Given the description of an element on the screen output the (x, y) to click on. 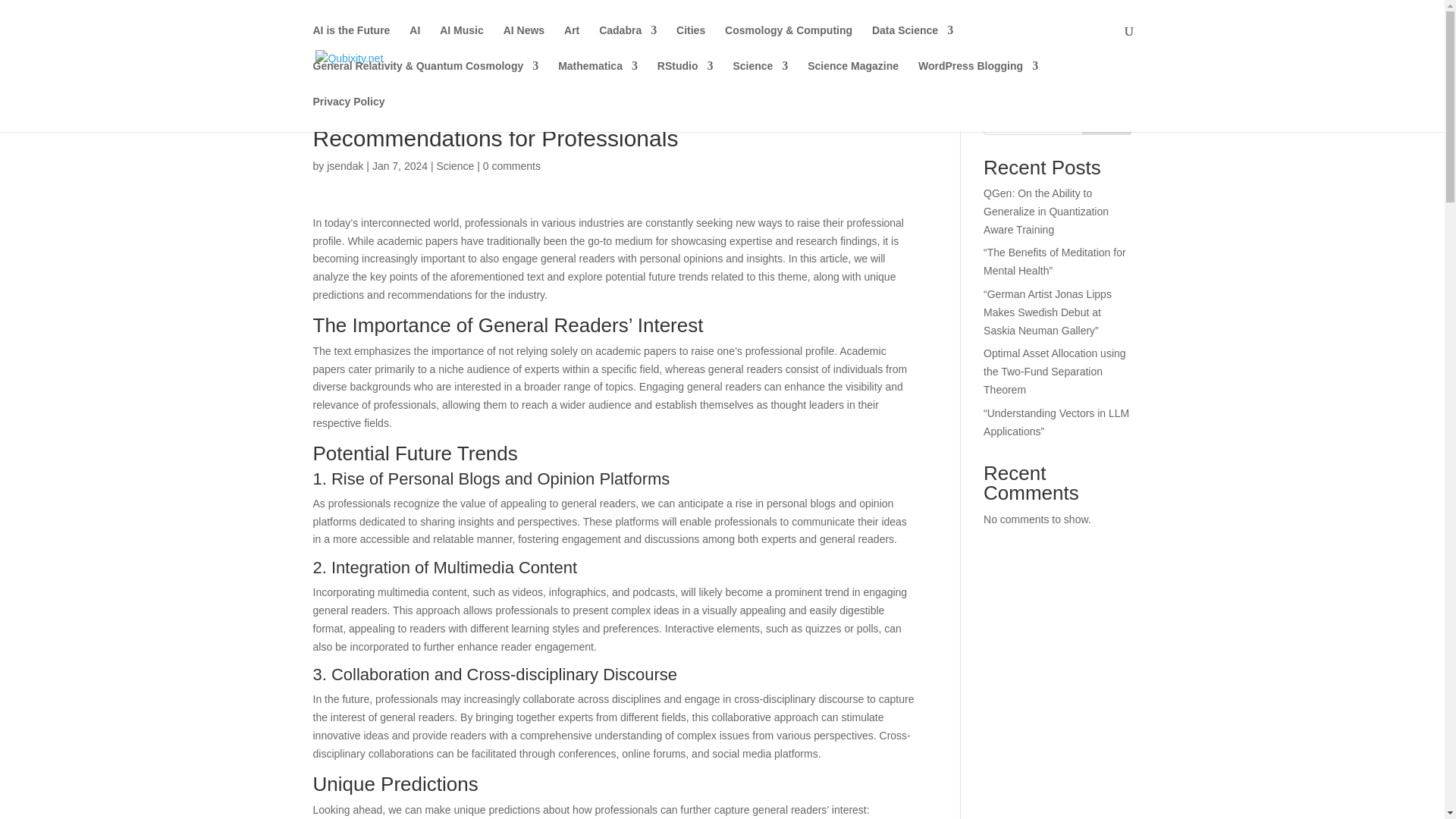
Cadabra (627, 42)
jsendak (344, 165)
Science (759, 78)
AI News (523, 42)
AI is the Future (351, 42)
0 comments (511, 165)
RStudio (685, 78)
Science Magazine (853, 78)
Mathematica (597, 78)
AI Music (461, 42)
